Given the description of an element on the screen output the (x, y) to click on. 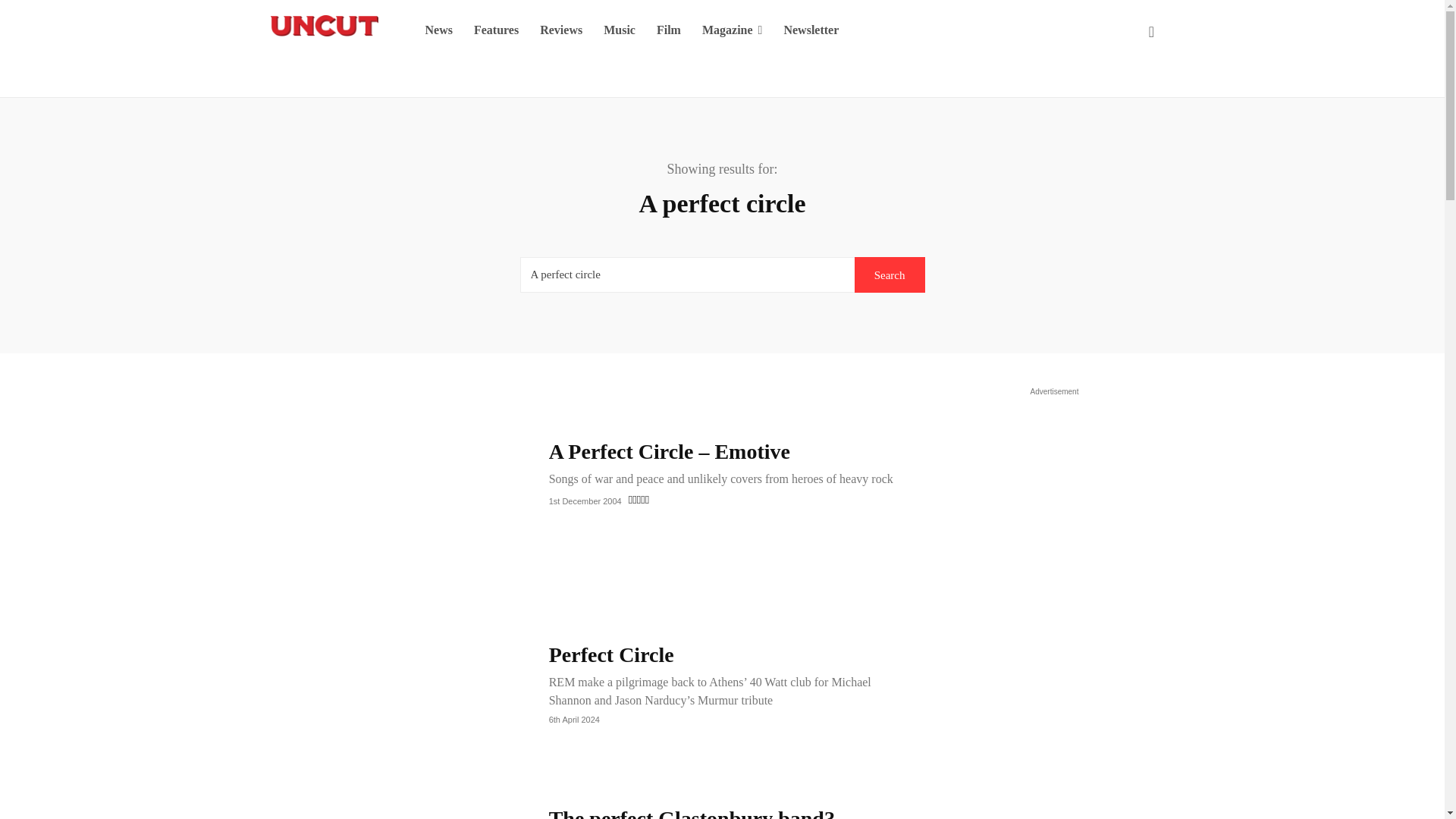
A perfect circle (686, 274)
Perfect Circle (611, 654)
The perfect Glastonbury band? (691, 812)
Features (496, 30)
Reviews (560, 30)
Perfect Circle (395, 682)
Magazine (732, 30)
Uncut Logo (323, 25)
Newsletter (810, 30)
The perfect Glastonbury band? (395, 812)
A perfect circle (686, 274)
